Given the description of an element on the screen output the (x, y) to click on. 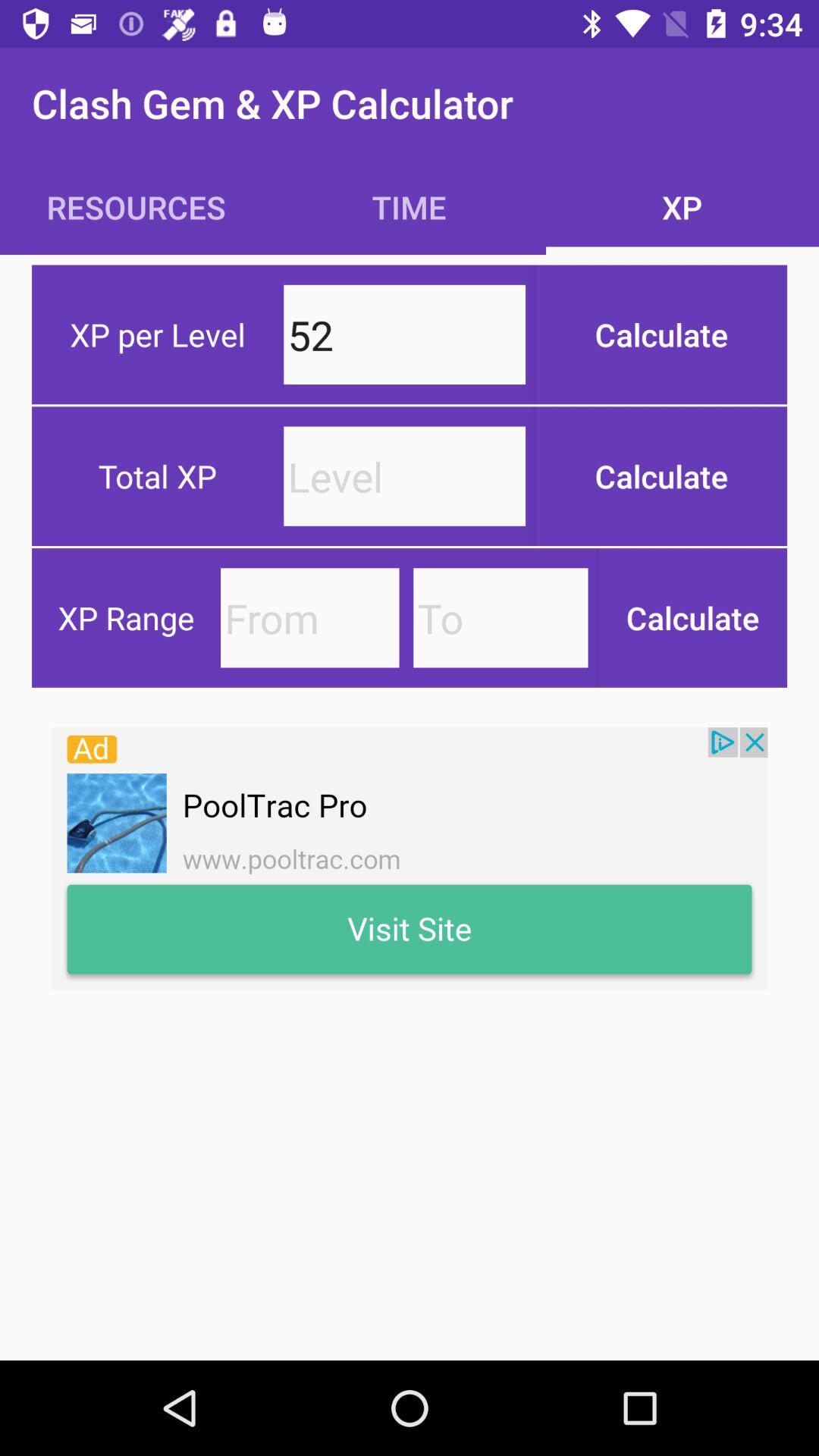
click on the second calculate option (661, 476)
